Given the description of an element on the screen output the (x, y) to click on. 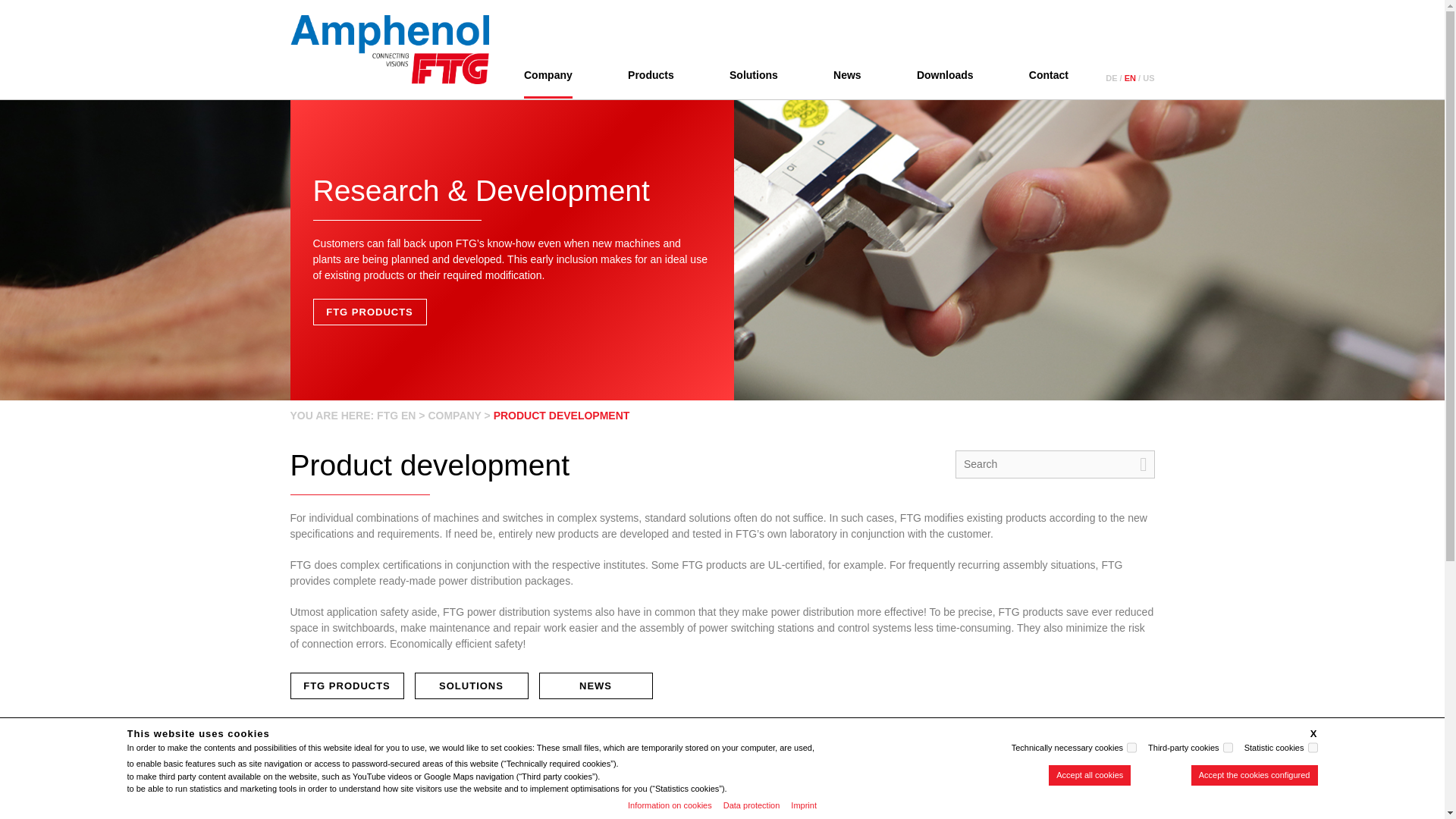
FTG EN (395, 415)
SOLUTIONS (470, 685)
Company (548, 74)
News (846, 74)
Information on cookies (669, 805)
Solutions (470, 685)
News (595, 685)
Contact (1048, 74)
Distribution Terminals (814, 781)
NEWS (595, 685)
